Given the description of an element on the screen output the (x, y) to click on. 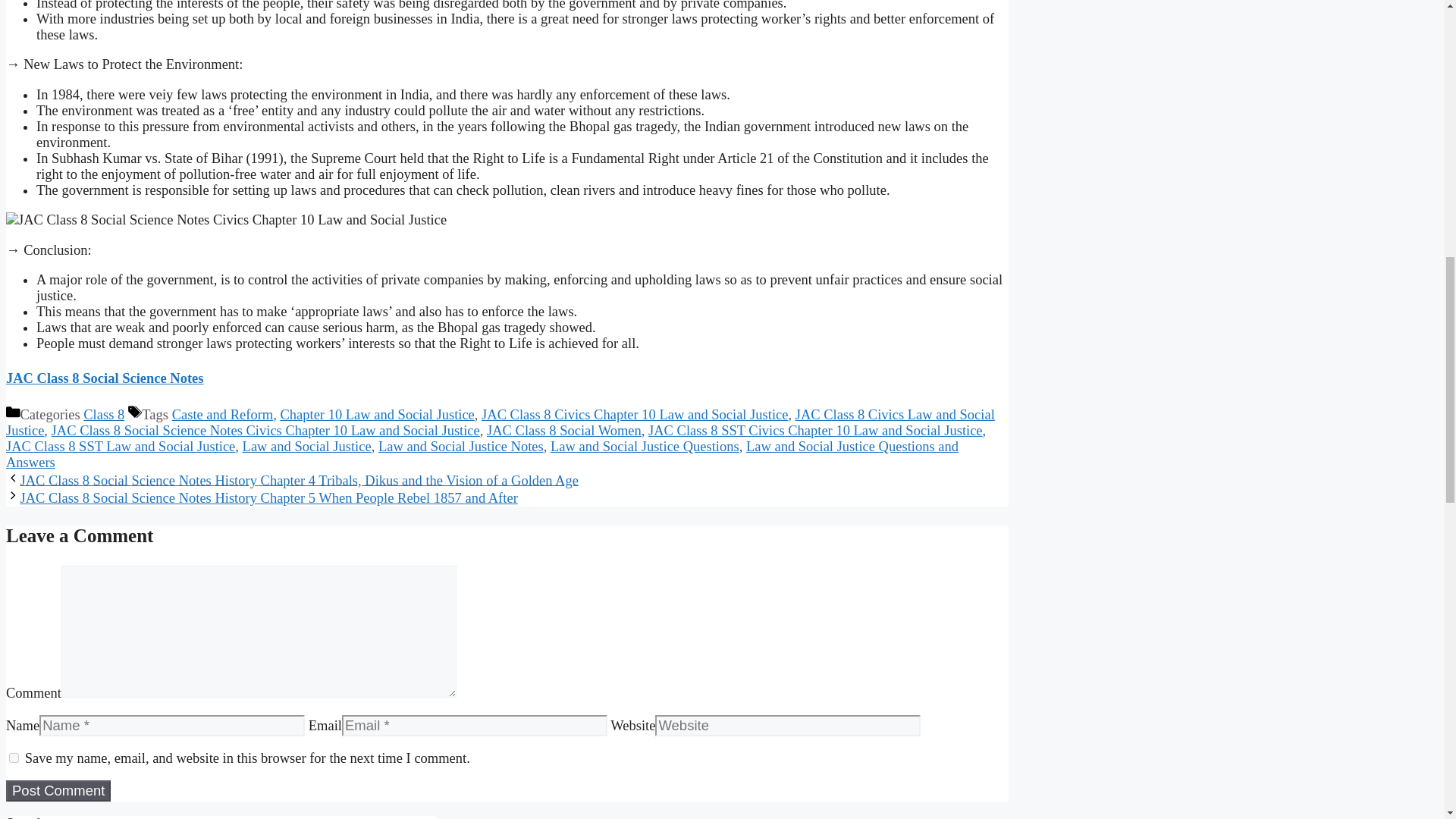
JAC Class 8 Social Science Notes (104, 378)
Post Comment (57, 790)
Chapter 10 Law and Social Justice (376, 414)
Caste and Reform (222, 414)
JAC Class 8 SST Civics Chapter 10 Law and Social Justice (814, 430)
JAC Class 8 SST Law and Social Justice (119, 446)
Law and Social Justice Notes (460, 446)
Class 8 (102, 414)
